Given the description of an element on the screen output the (x, y) to click on. 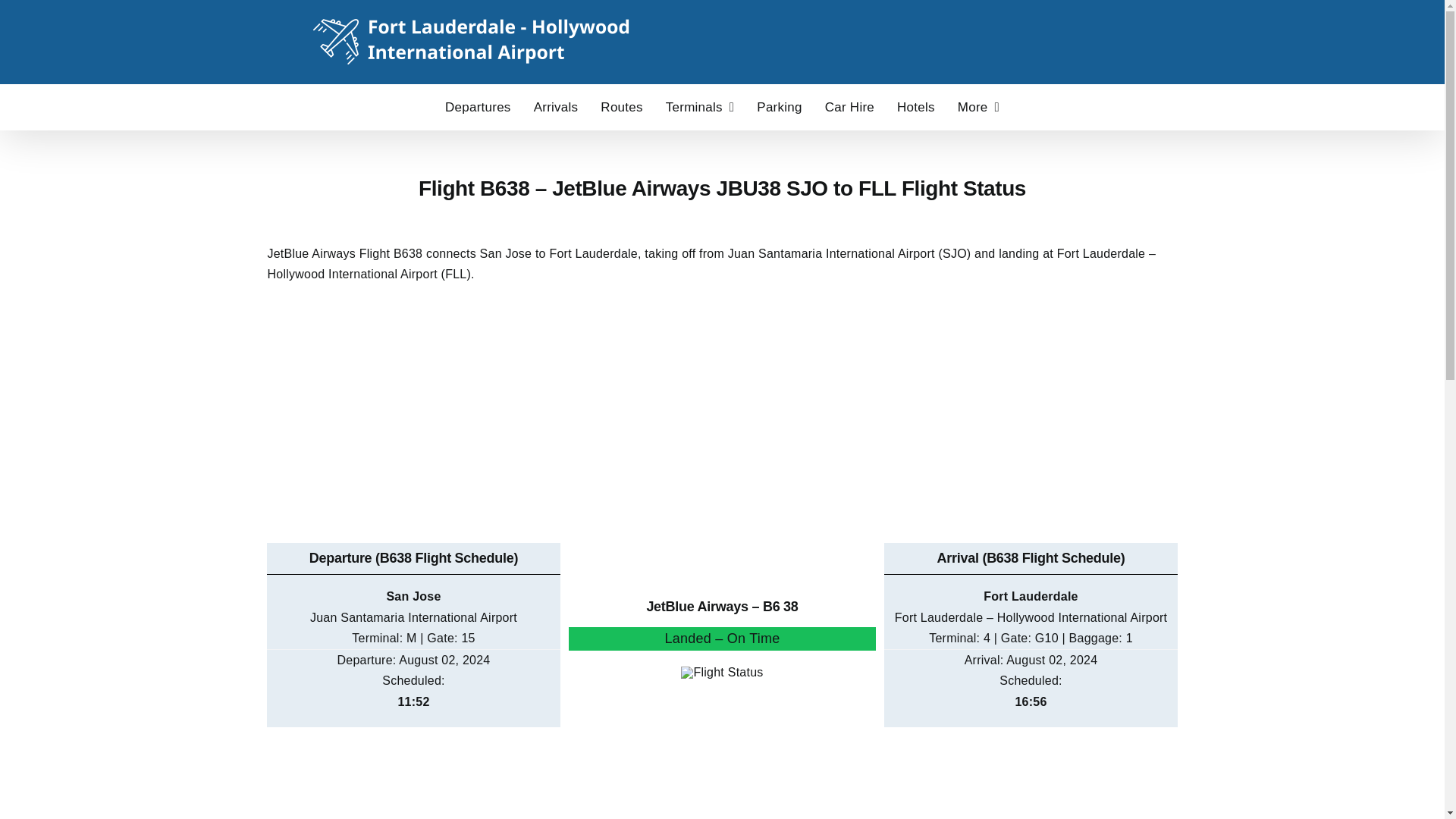
FLL Parking (779, 106)
More (978, 106)
Routes (620, 106)
Car Hire (850, 106)
FLL Arrivals (556, 106)
Arrivals (556, 106)
FLL Routes (620, 106)
Parking (779, 106)
FLL Car Hire (850, 106)
FLL Departures (478, 106)
